Given the description of an element on the screen output the (x, y) to click on. 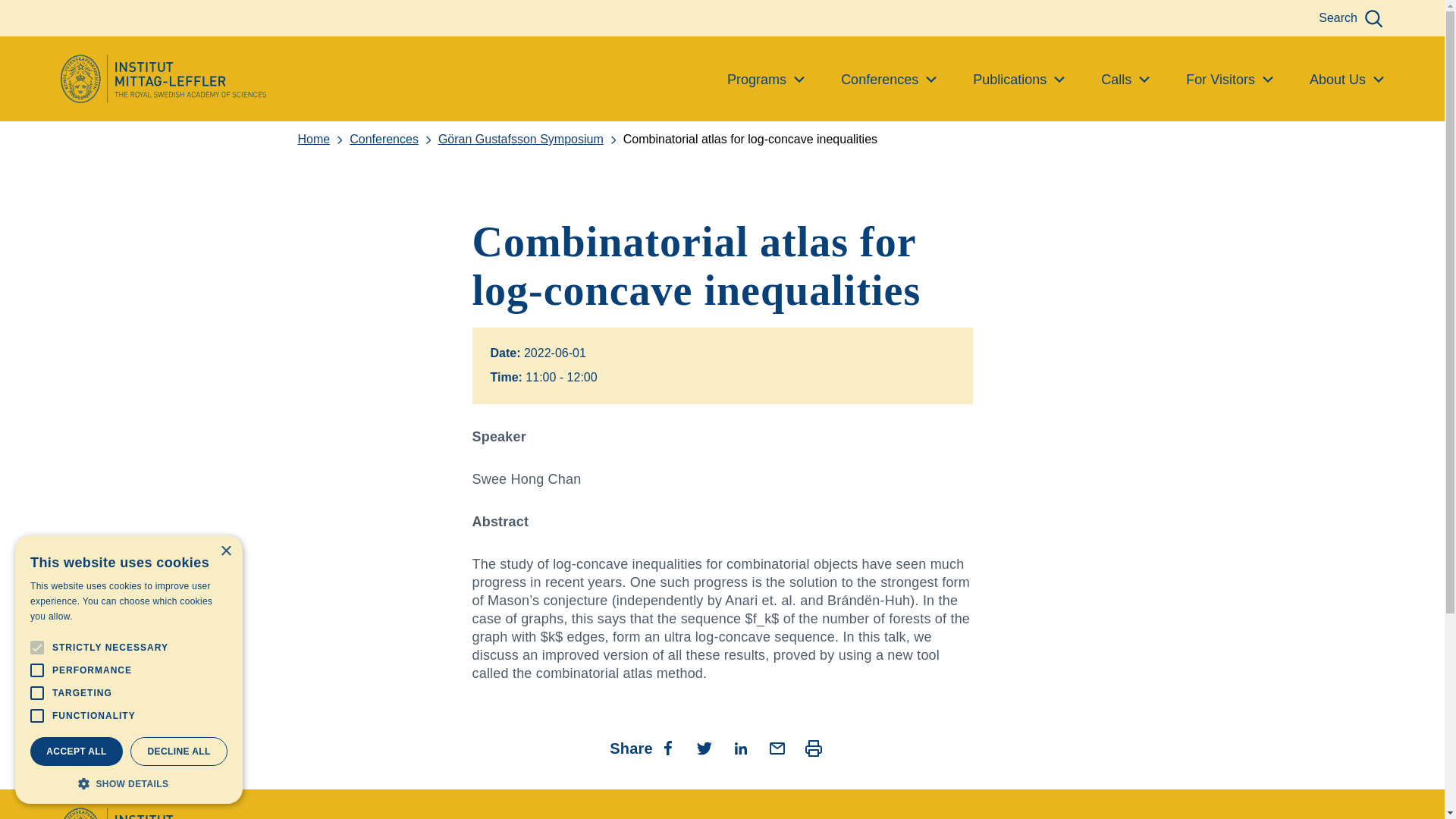
Share on twitter (703, 748)
Share on Facebook (667, 748)
Share on linkedIn (740, 748)
About Us (1346, 79)
Conferences (393, 139)
Share via mail (776, 748)
Conferences (888, 79)
Print (812, 748)
Publications (1018, 79)
For Visitors (1229, 79)
Home (323, 139)
Calls (1125, 79)
Programs (765, 79)
